Given the description of an element on the screen output the (x, y) to click on. 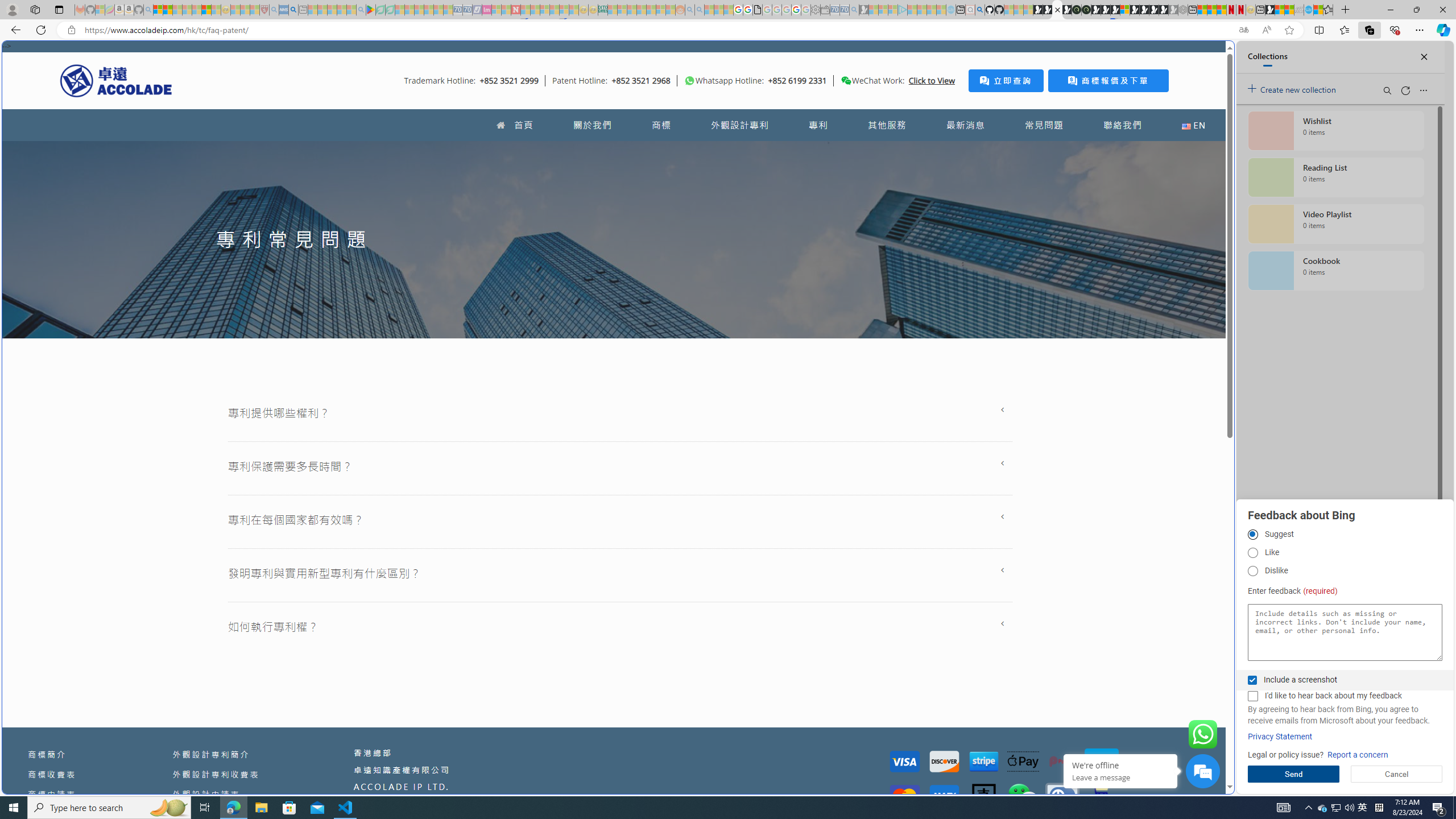
Pets - MSN - Sleeping (340, 9)
World - MSN (727, 389)
